Given the description of an element on the screen output the (x, y) to click on. 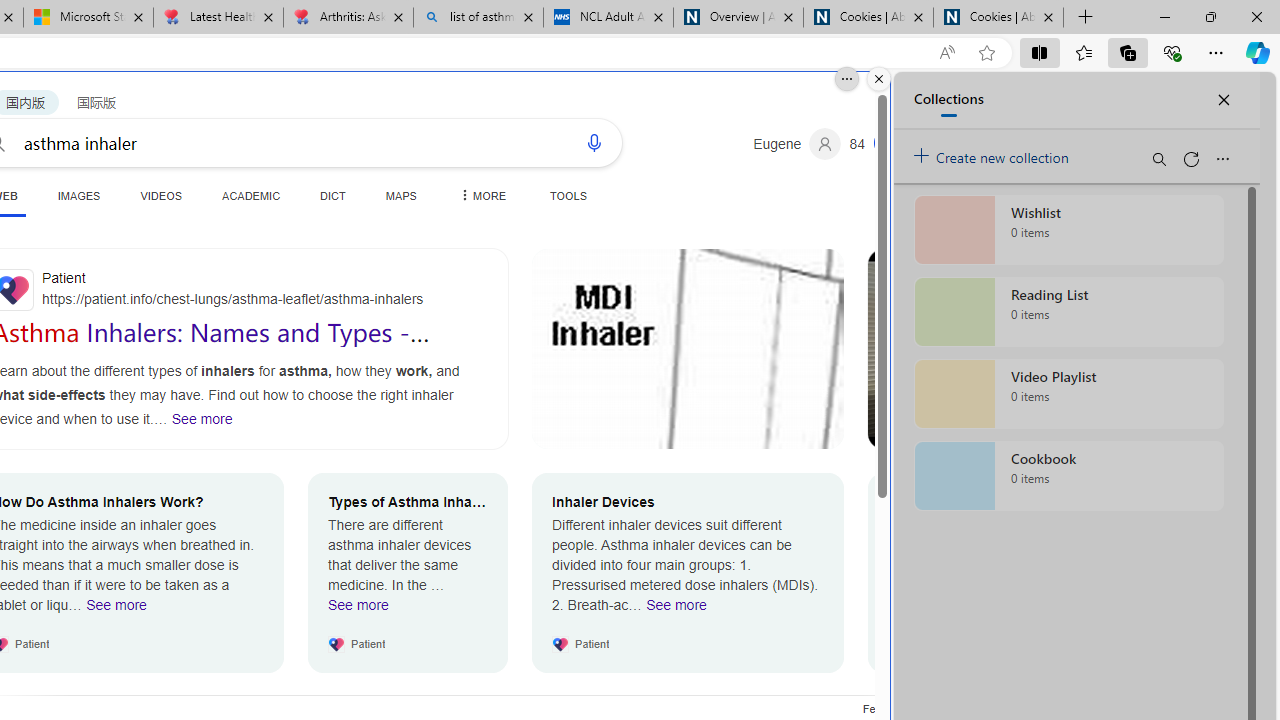
VIDEOS (160, 195)
TOOLS (568, 195)
DICT (333, 195)
Video source site (885, 431)
MAPS (400, 195)
Search using voice (593, 142)
